Given the description of an element on the screen output the (x, y) to click on. 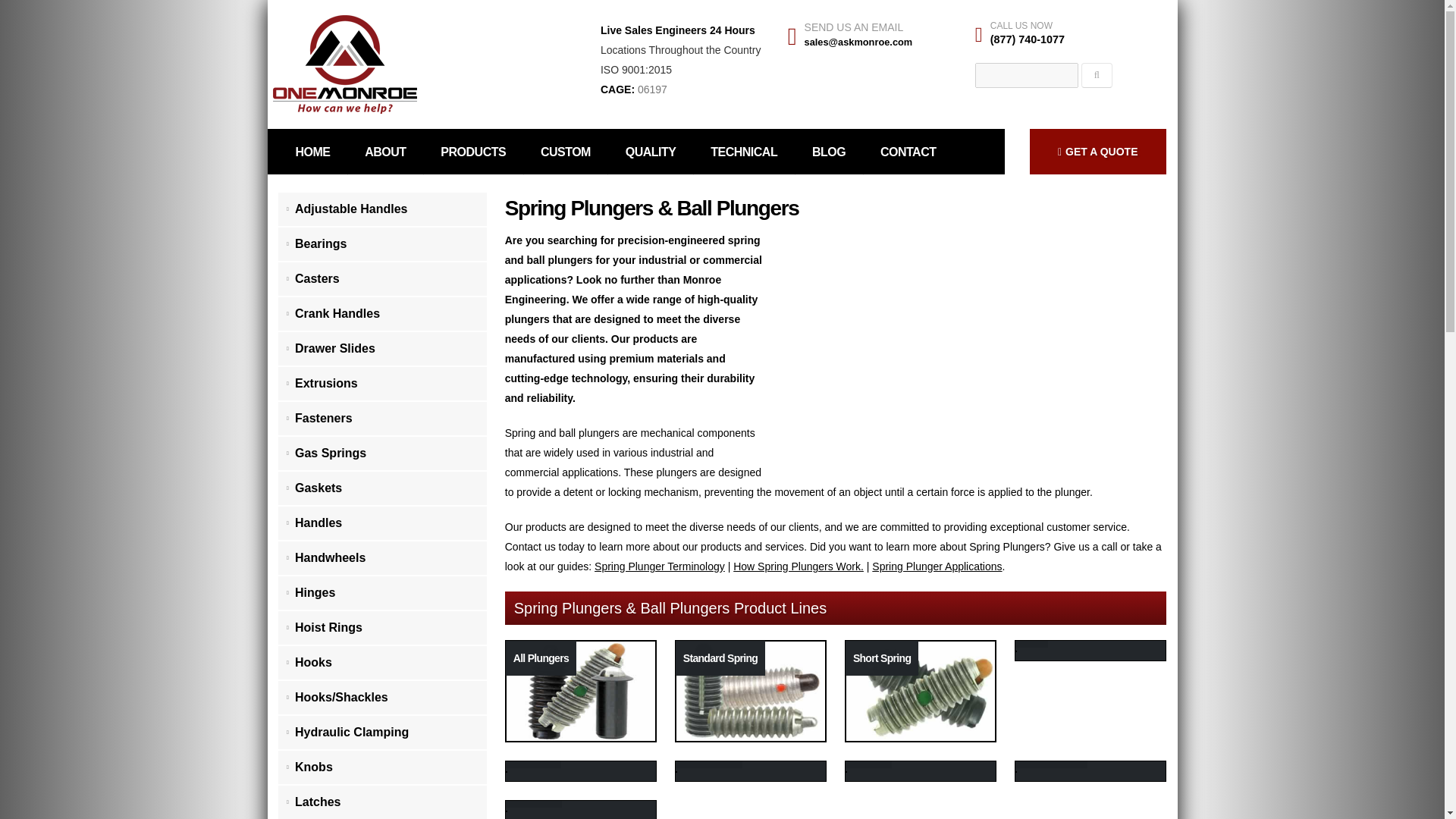
BLOG (828, 151)
Gaskets (382, 488)
OneMonroe - Engineering - How Can We Help? (343, 64)
Casters (382, 279)
Bearings (382, 244)
Latches (382, 802)
PRODUCTS (473, 151)
Gas Springs (382, 453)
ABOUT (385, 151)
Hooks (382, 663)
